Given the description of an element on the screen output the (x, y) to click on. 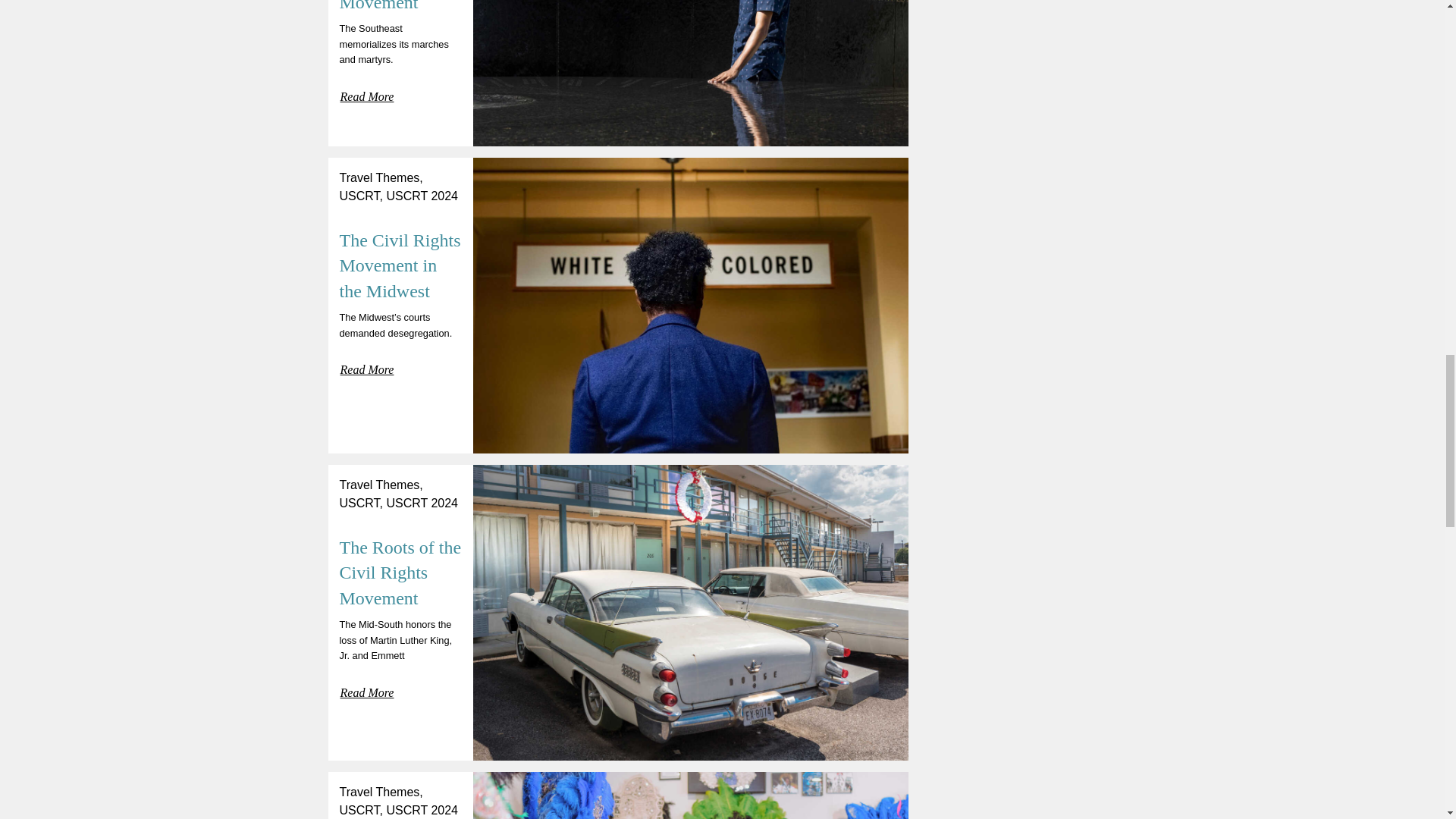
The Roots of the Civil Rights Movement (400, 572)
Memorials of the Civil Rights Movement (396, 6)
The Civil Rights Movement in the Midwest (400, 265)
